Given the description of an element on the screen output the (x, y) to click on. 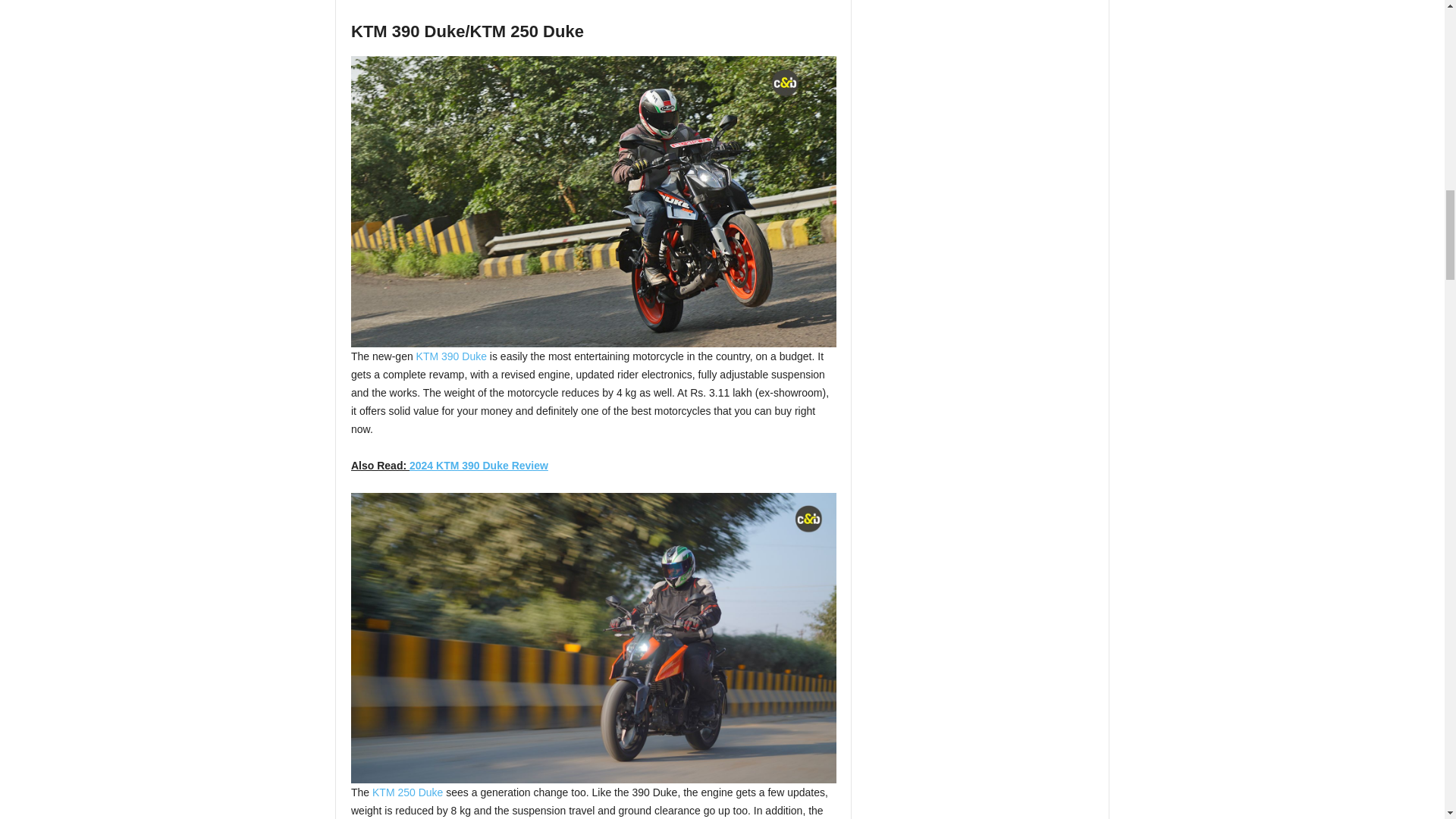
KTM 390 Duke (451, 356)
2024 KTM 390 Duke Review (478, 465)
KTM 250 Duke (407, 792)
